Given the description of an element on the screen output the (x, y) to click on. 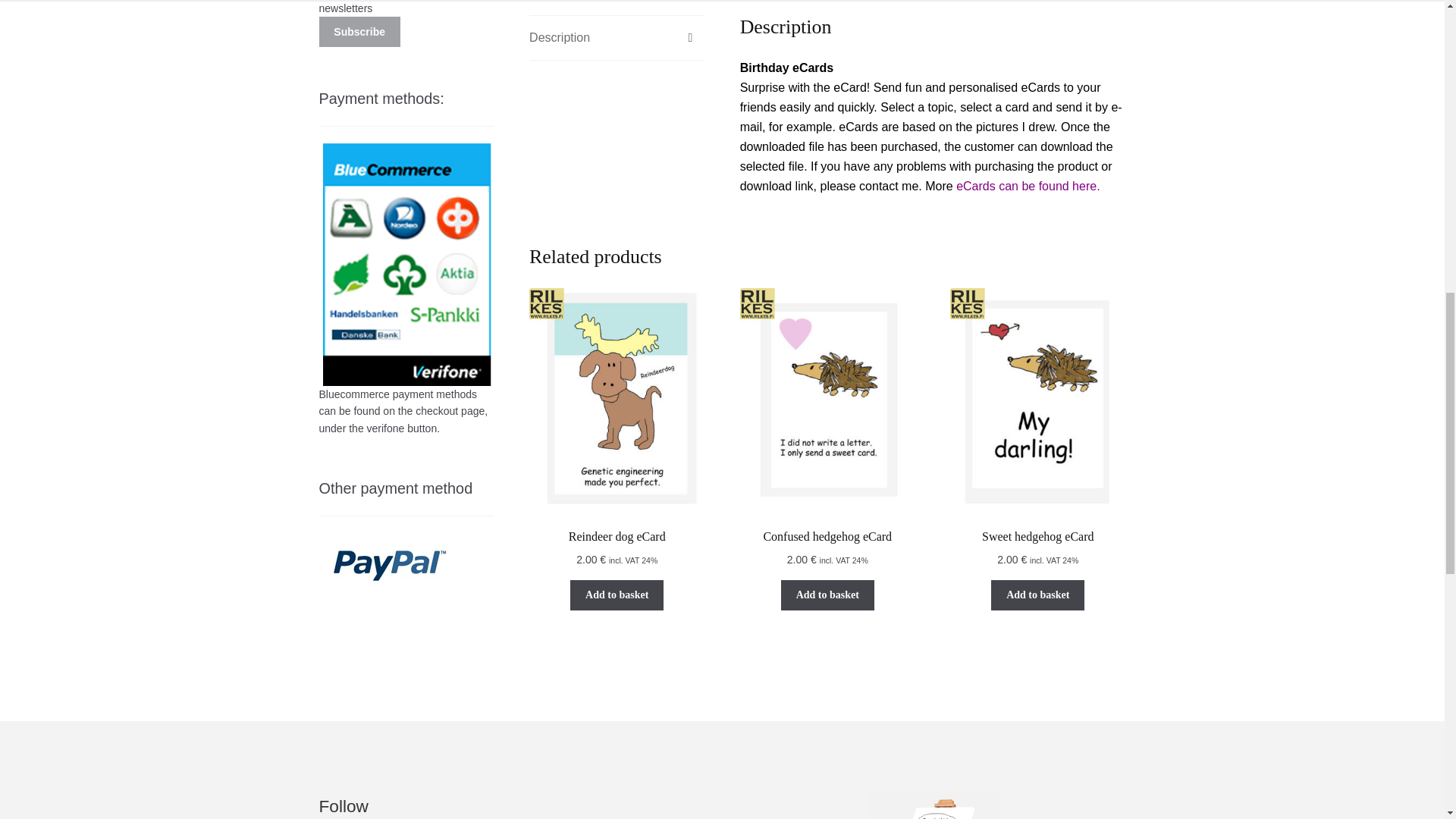
Subscribe (359, 31)
